Given the description of an element on the screen output the (x, y) to click on. 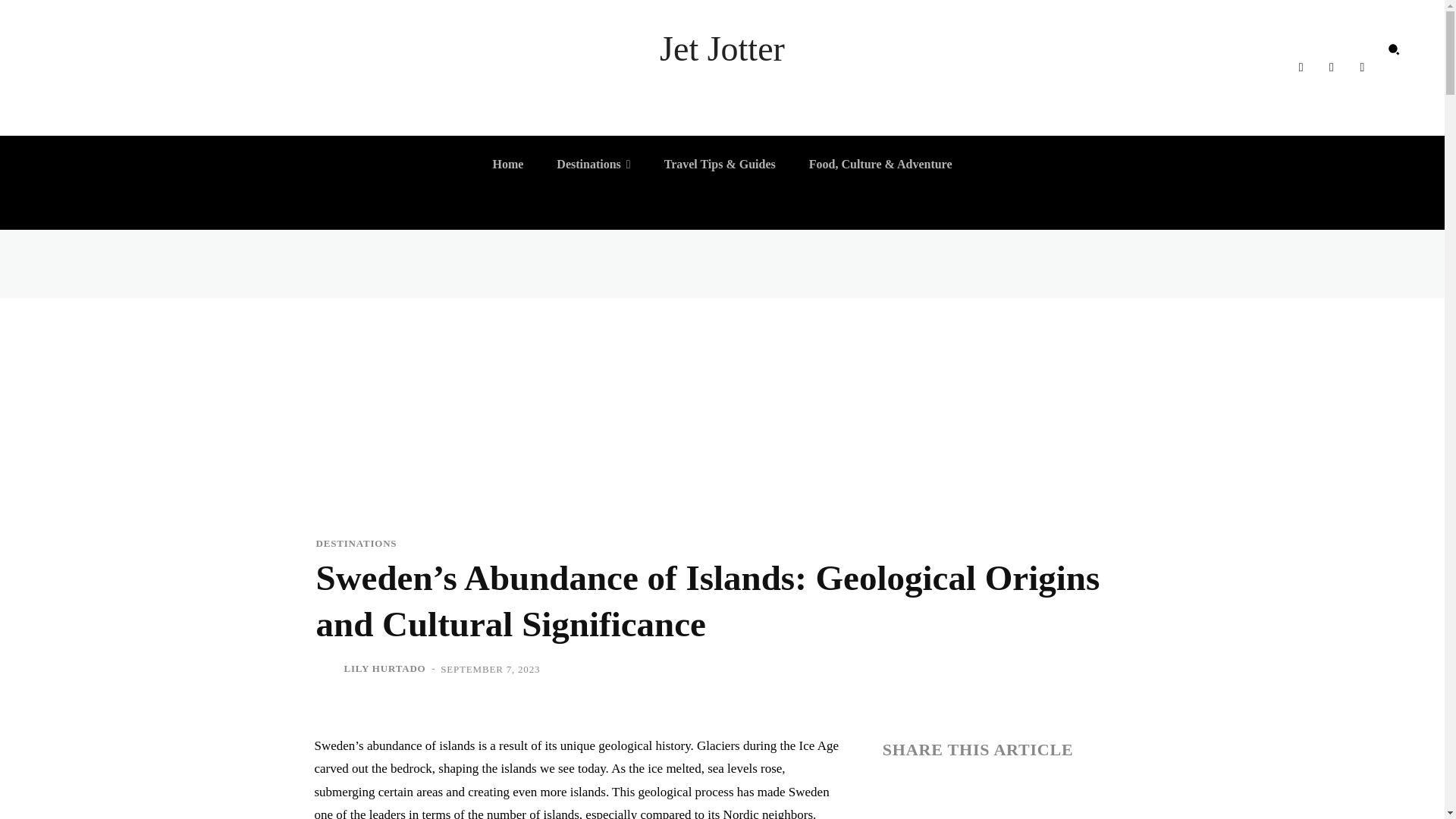
Twitter (1362, 67)
Lily Hurtado (327, 668)
Home (507, 164)
LILY HURTADO (384, 668)
Instagram (1331, 67)
Destinations (593, 164)
DESTINATIONS (355, 542)
Jet Jotter (722, 49)
Facebook (1299, 67)
